Given the description of an element on the screen output the (x, y) to click on. 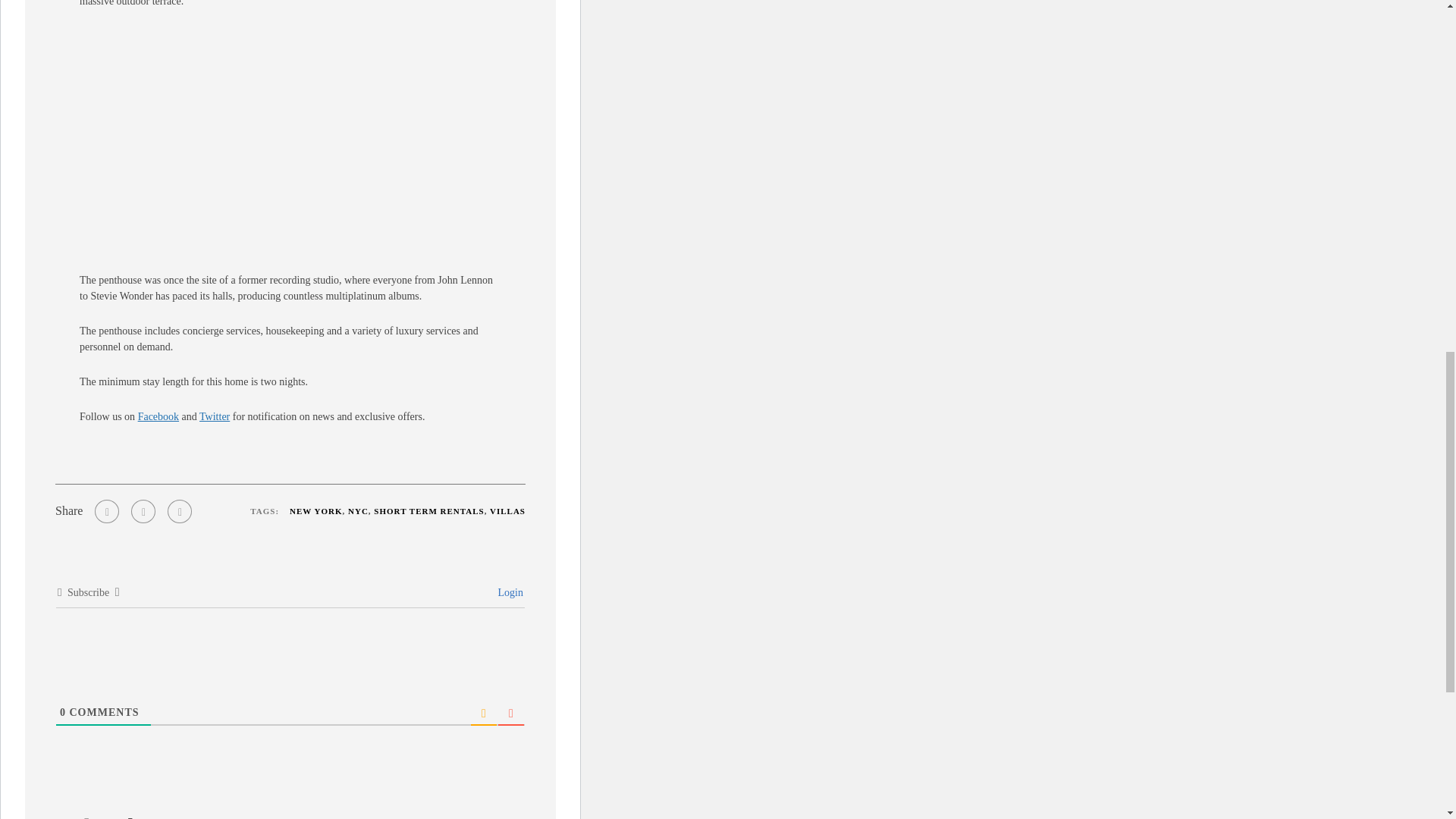
NEW YORK (315, 510)
Facebook (158, 416)
SHORT TERM RENTALS (428, 510)
Login (507, 592)
Twitter (214, 416)
NYC (357, 510)
VILLAS (507, 510)
